Given the description of an element on the screen output the (x, y) to click on. 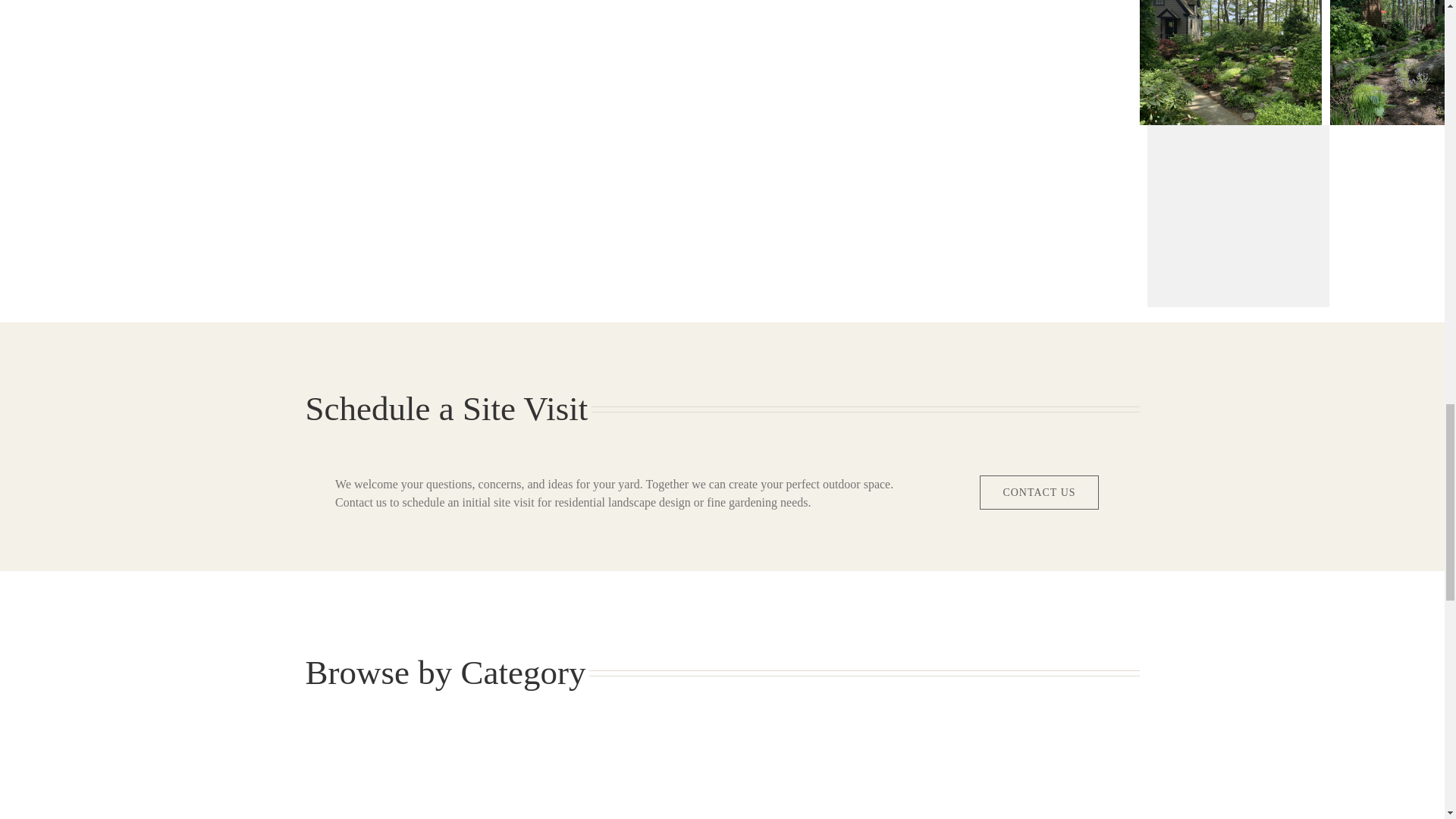
SMALL YARD (1040, 813)
FRONT YARD (616, 813)
BACK YARD (402, 813)
CONTACT US (1038, 492)
